Given the description of an element on the screen output the (x, y) to click on. 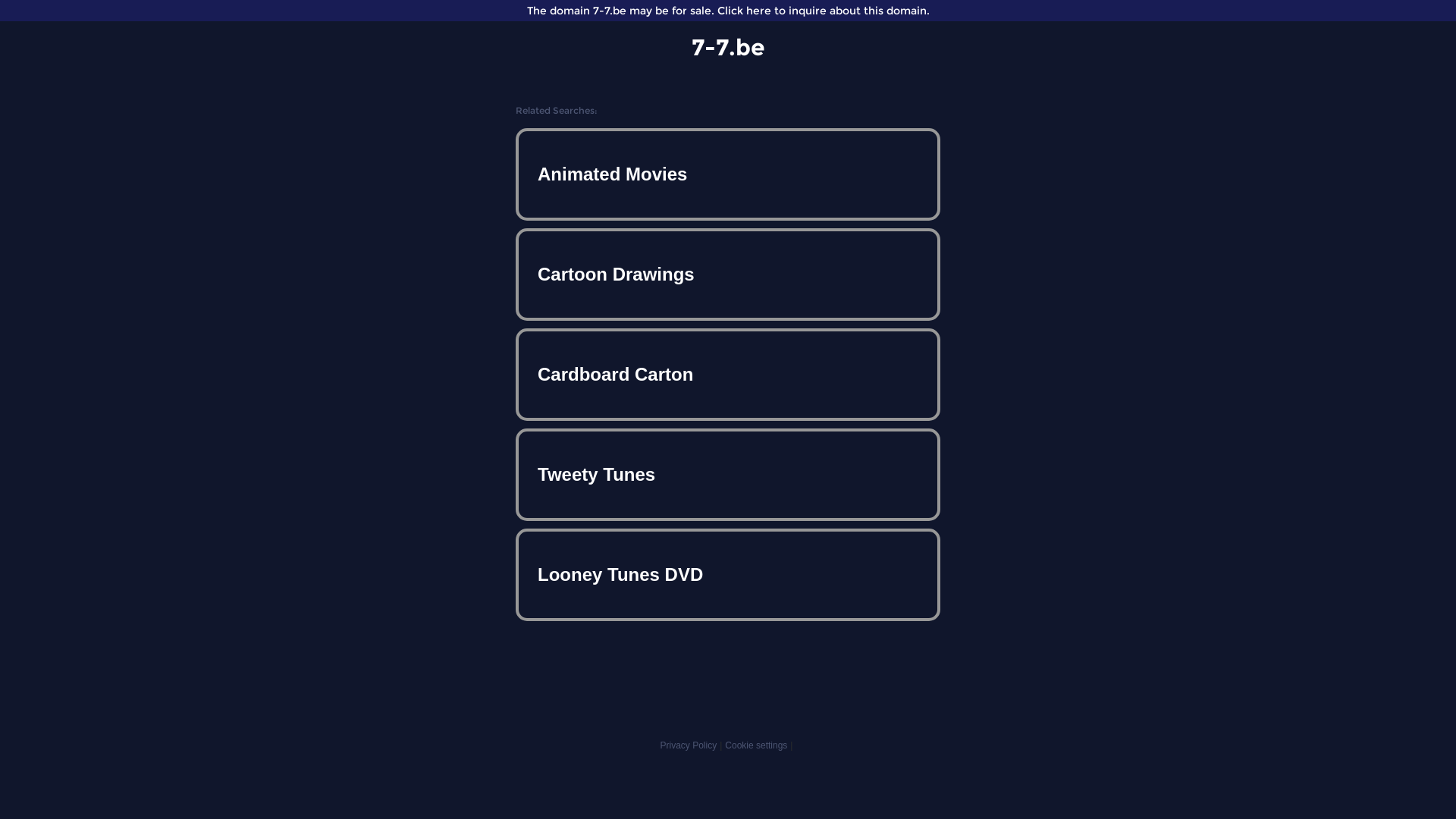
Privacy Policy Element type: text (687, 745)
Tweety Tunes Element type: text (727, 474)
7-7.be Element type: text (728, 47)
Animated Movies Element type: text (727, 174)
Cartoon Drawings Element type: text (727, 274)
Cardboard Carton Element type: text (727, 374)
Looney Tunes DVD Element type: text (727, 574)
Cookie settings Element type: text (755, 745)
